Given the description of an element on the screen output the (x, y) to click on. 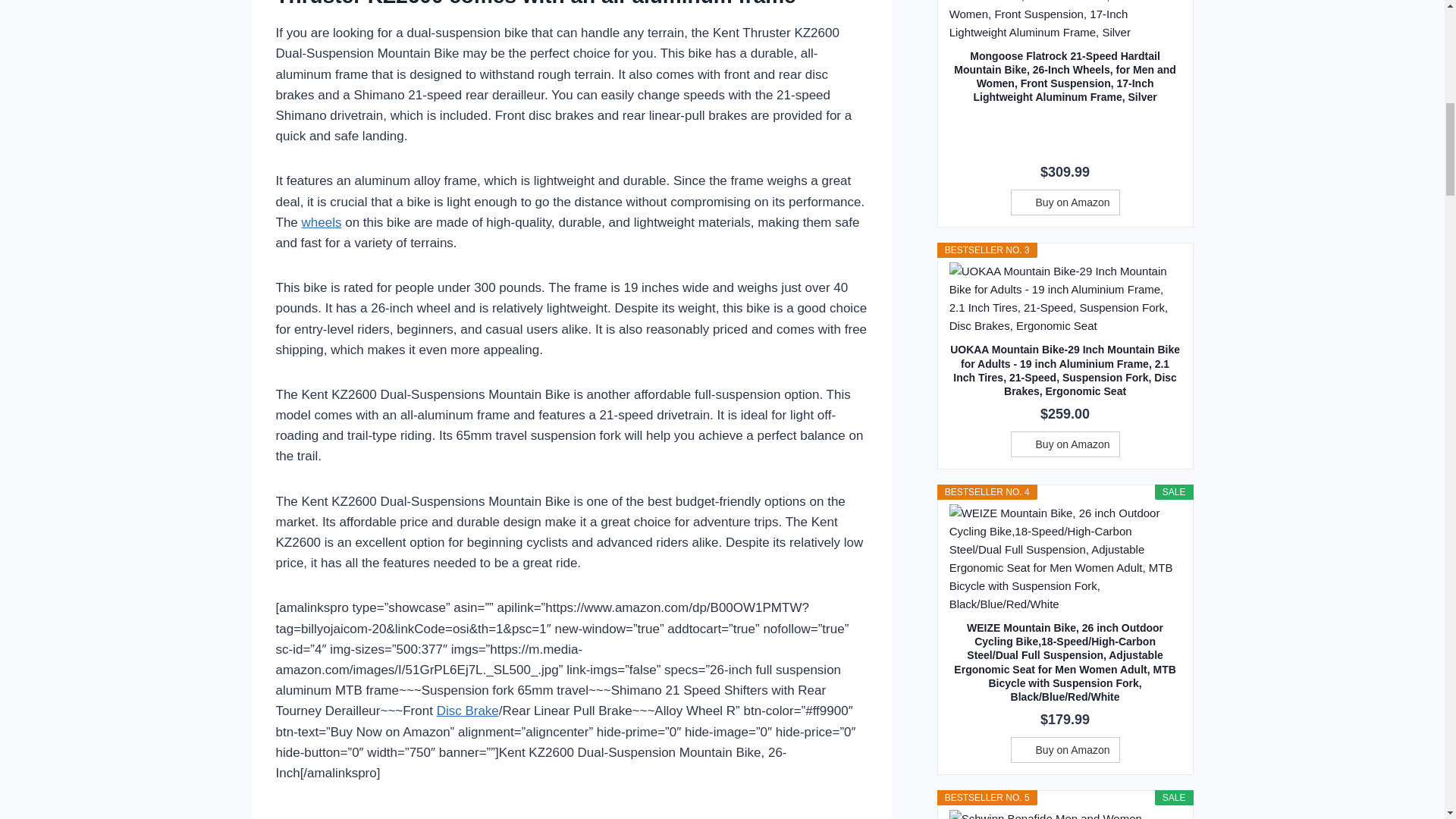
Posts tagged with Disc Brake (467, 710)
Posts tagged with wheels (321, 222)
wheels (321, 222)
Disc Brake (467, 710)
